Given the description of an element on the screen output the (x, y) to click on. 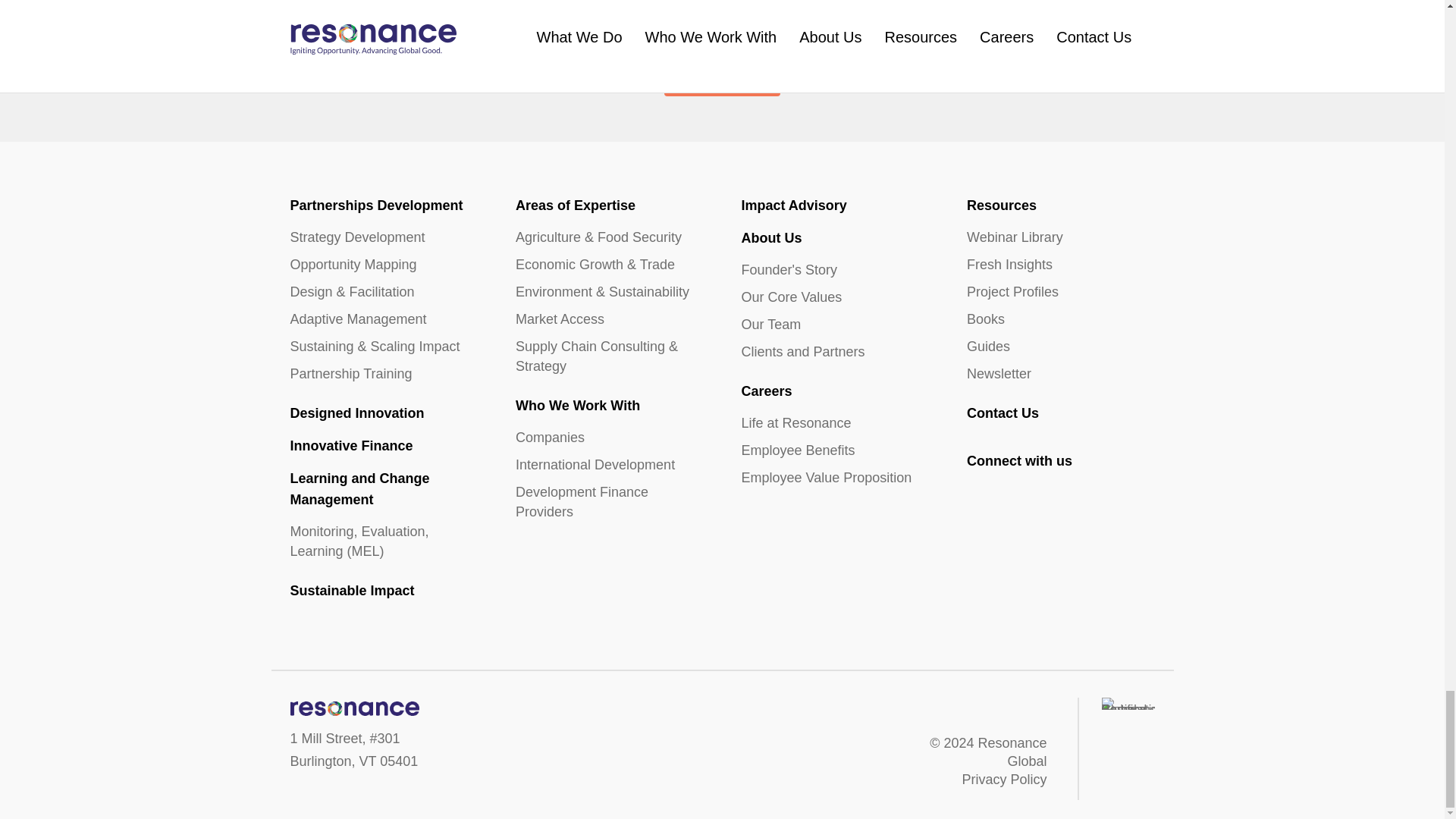
Contact Us (721, 73)
